Given the description of an element on the screen output the (x, y) to click on. 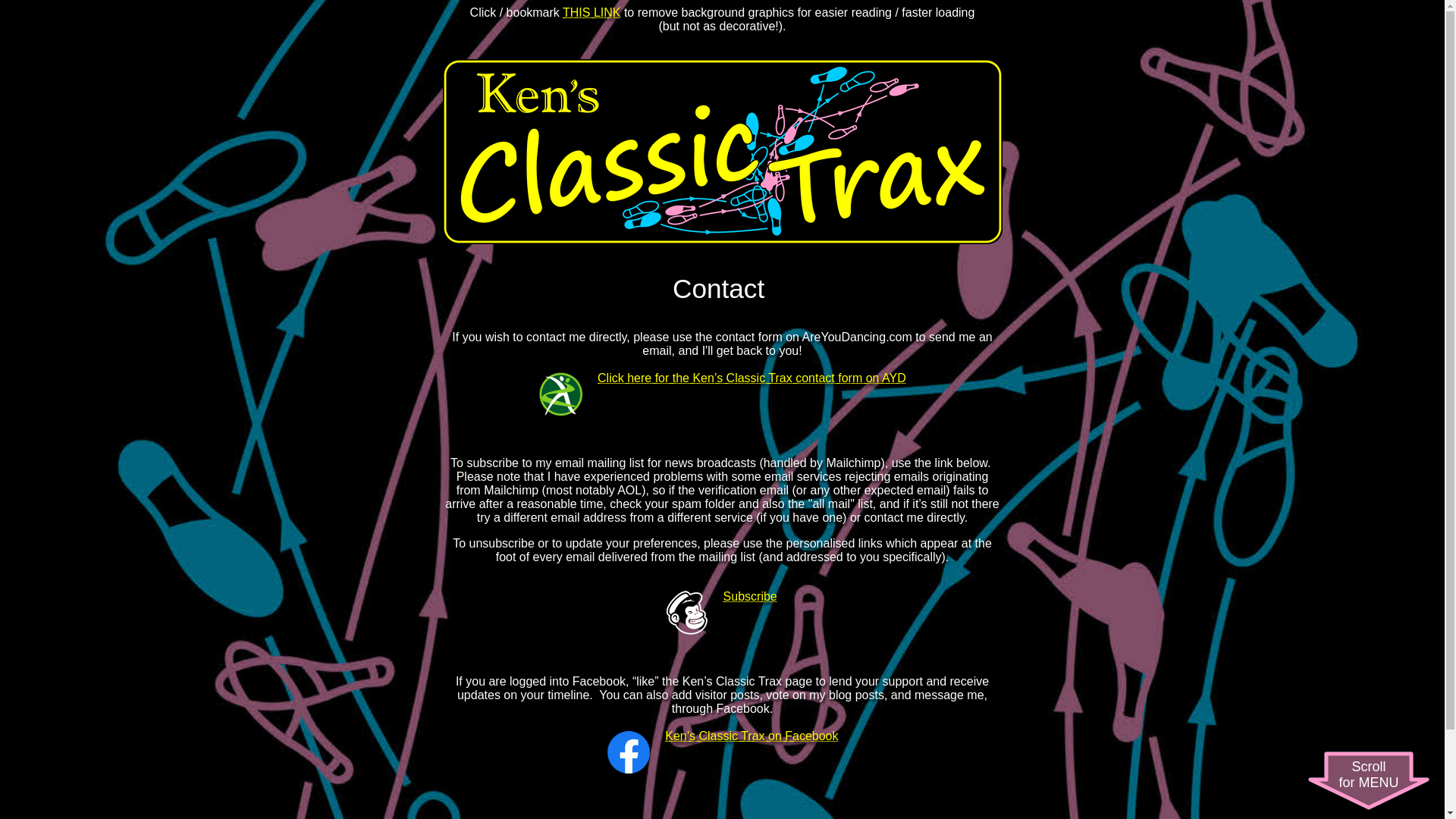
Subscribe (1368, 780)
THIS LINK (750, 595)
Scroll down to menu (591, 11)
